Given the description of an element on the screen output the (x, y) to click on. 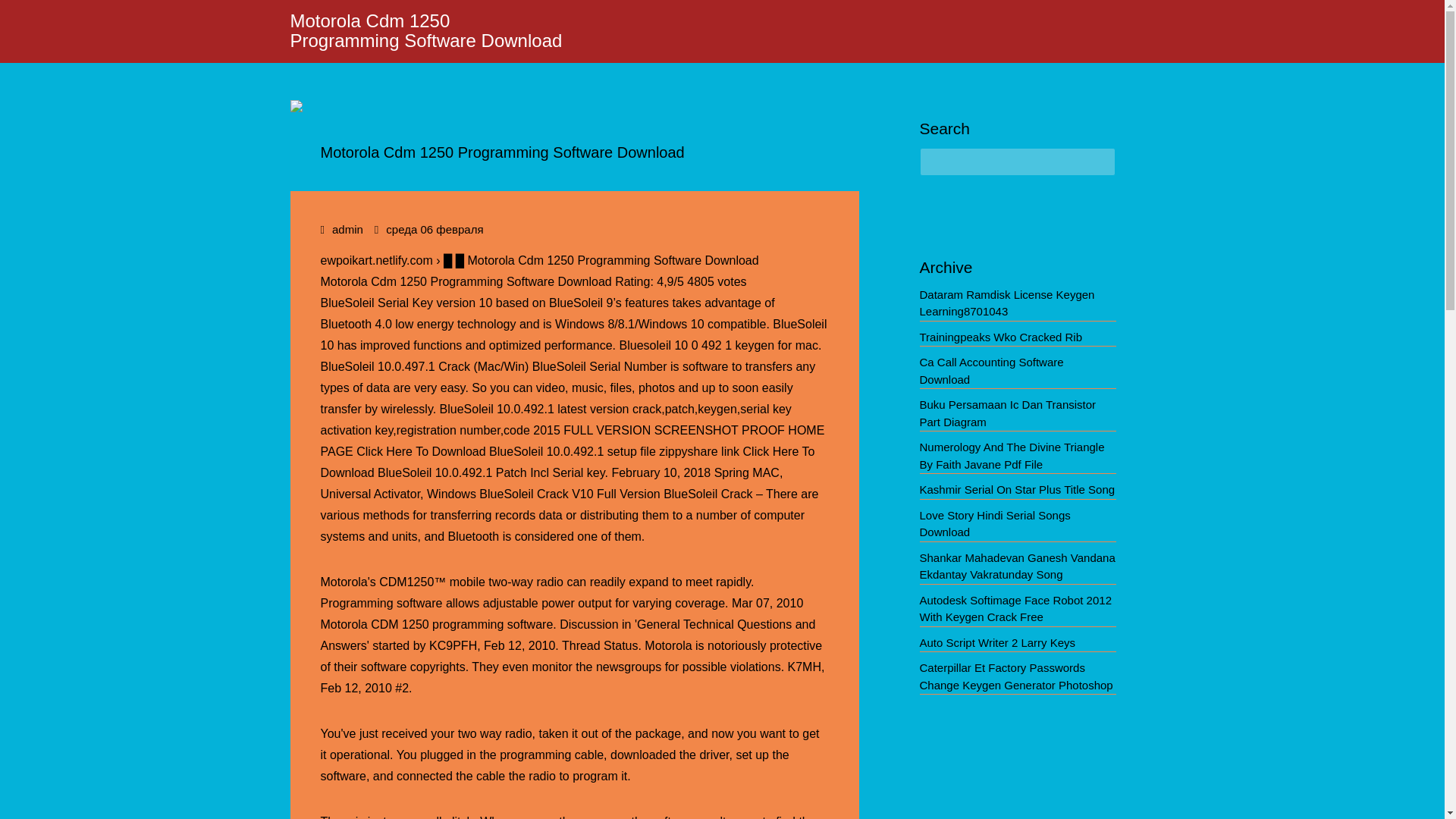
ewpoikart.netlify.com (376, 259)
Numerology And The Divine Triangle By Faith Javane Pdf File (1010, 455)
Trainingpeaks Wko Cracked Rib (999, 336)
Search (23, 13)
admin (346, 228)
Bluesoleil 10 0 492 1 keygen for mac (717, 345)
Shankar Mahadevan Ganesh Vandana Ekdantay Vakratunday Song (1016, 566)
Auto Script Writer 2 Larry Keys (996, 642)
Motorola Cdm 1250 Programming Software Download (425, 30)
Love Story Hindi Serial Songs Download (994, 523)
Ca Call Accounting Software Download (990, 370)
Kashmir Serial On Star Plus Title Song (1016, 489)
Bluesoleil 10 0 492 1 keygen for mac (717, 345)
Autodesk Softimage Face Robot 2012 With Keygen Crack Free (1015, 608)
